Given the description of an element on the screen output the (x, y) to click on. 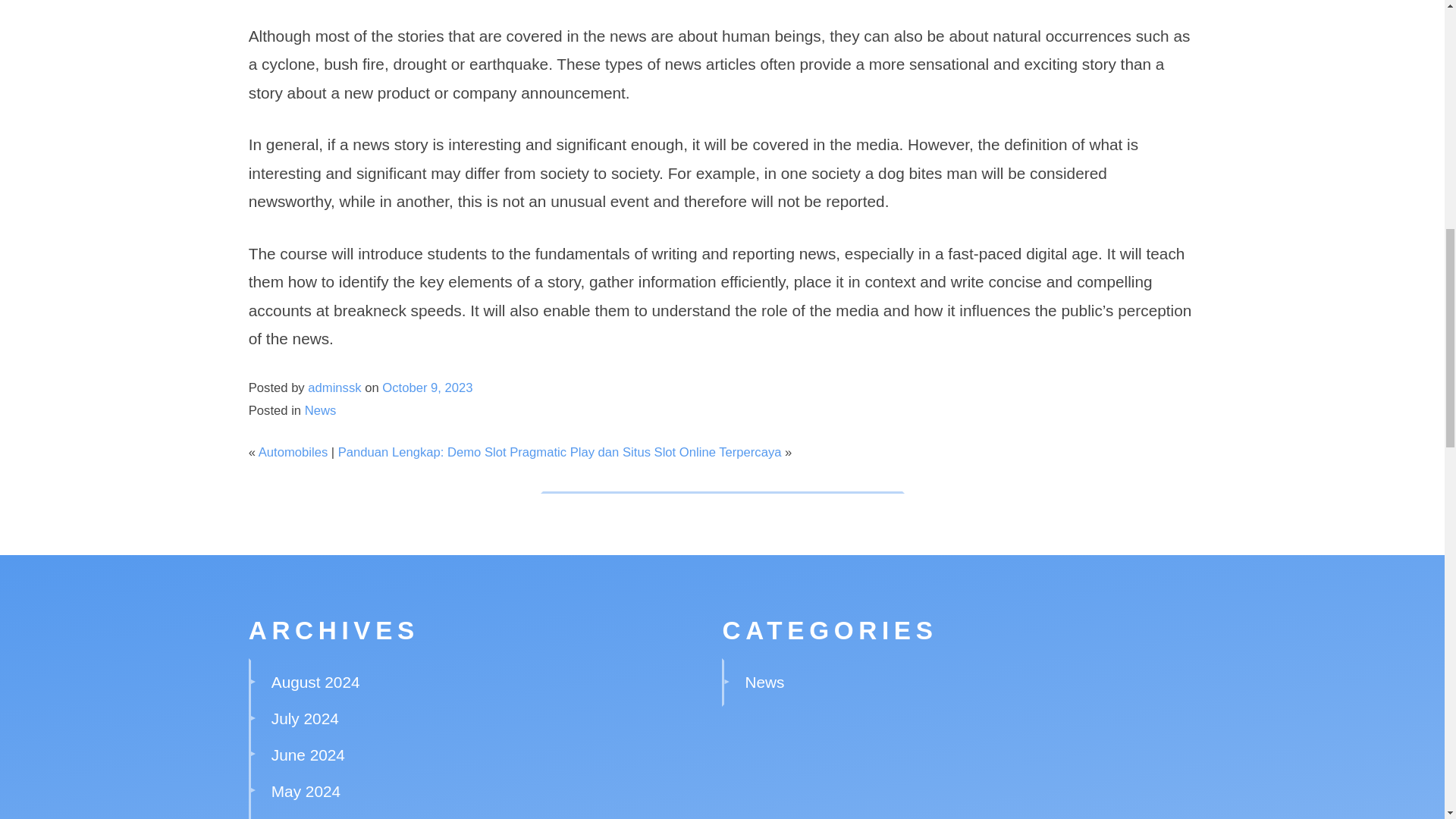
May 2024 (305, 791)
Automobiles (294, 452)
News (764, 682)
August 2024 (314, 682)
adminssk (334, 387)
October 9, 2023 (426, 387)
News (320, 410)
July 2024 (304, 718)
June 2024 (307, 754)
